Given the description of an element on the screen output the (x, y) to click on. 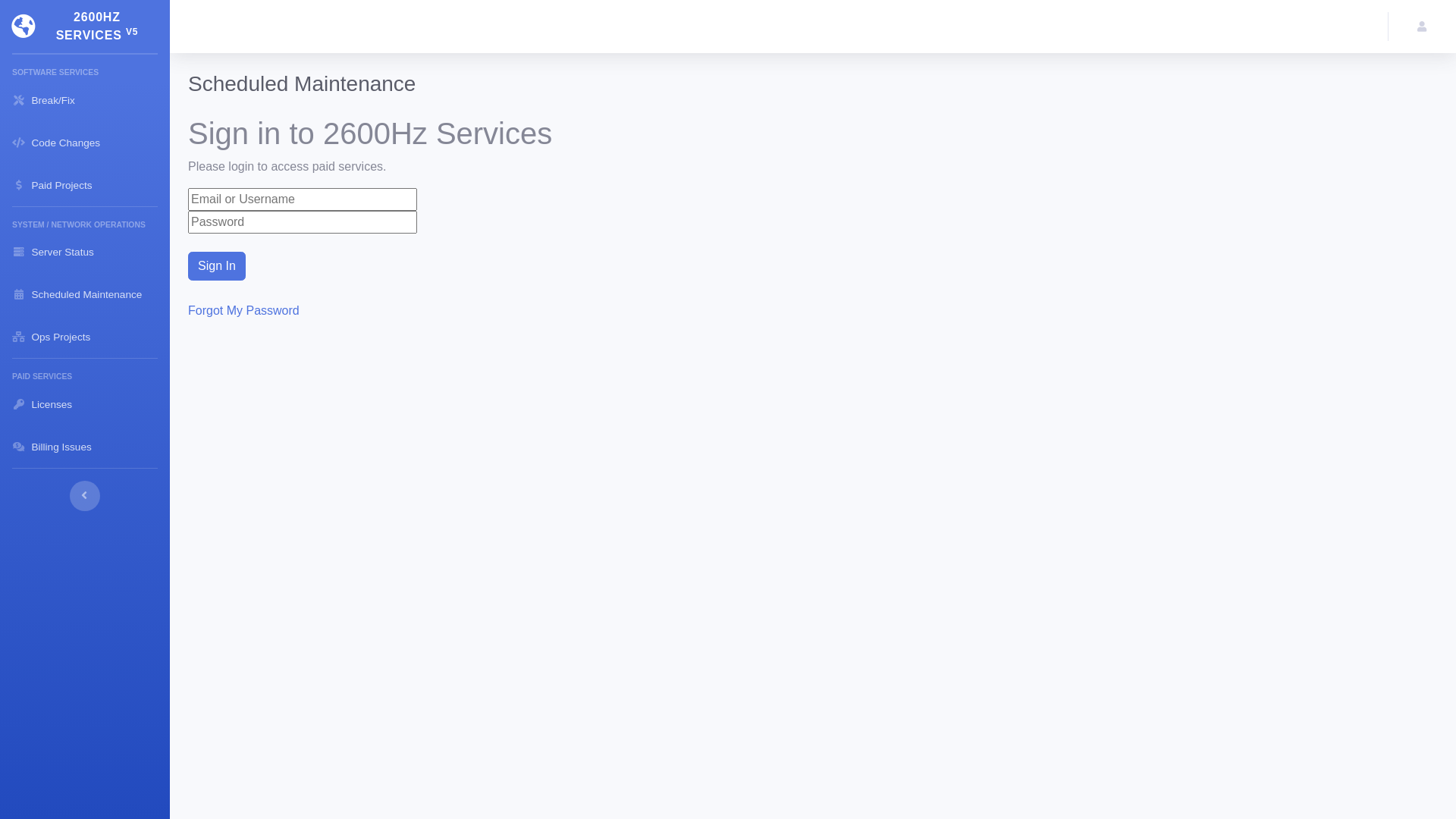
2600HZ SERVICES V5 Element type: text (84, 26)
Break/Fix Element type: text (84, 99)
Billing Issues Element type: text (84, 446)
Server Status Element type: text (84, 251)
Scheduled Maintenance Element type: text (84, 294)
Forgot My Password Element type: text (243, 309)
Sign In Element type: text (216, 265)
Ops Projects Element type: text (84, 336)
Licenses Element type: text (84, 403)
Paid Projects Element type: text (84, 184)
Code Changes Element type: text (84, 142)
